Given the description of an element on the screen output the (x, y) to click on. 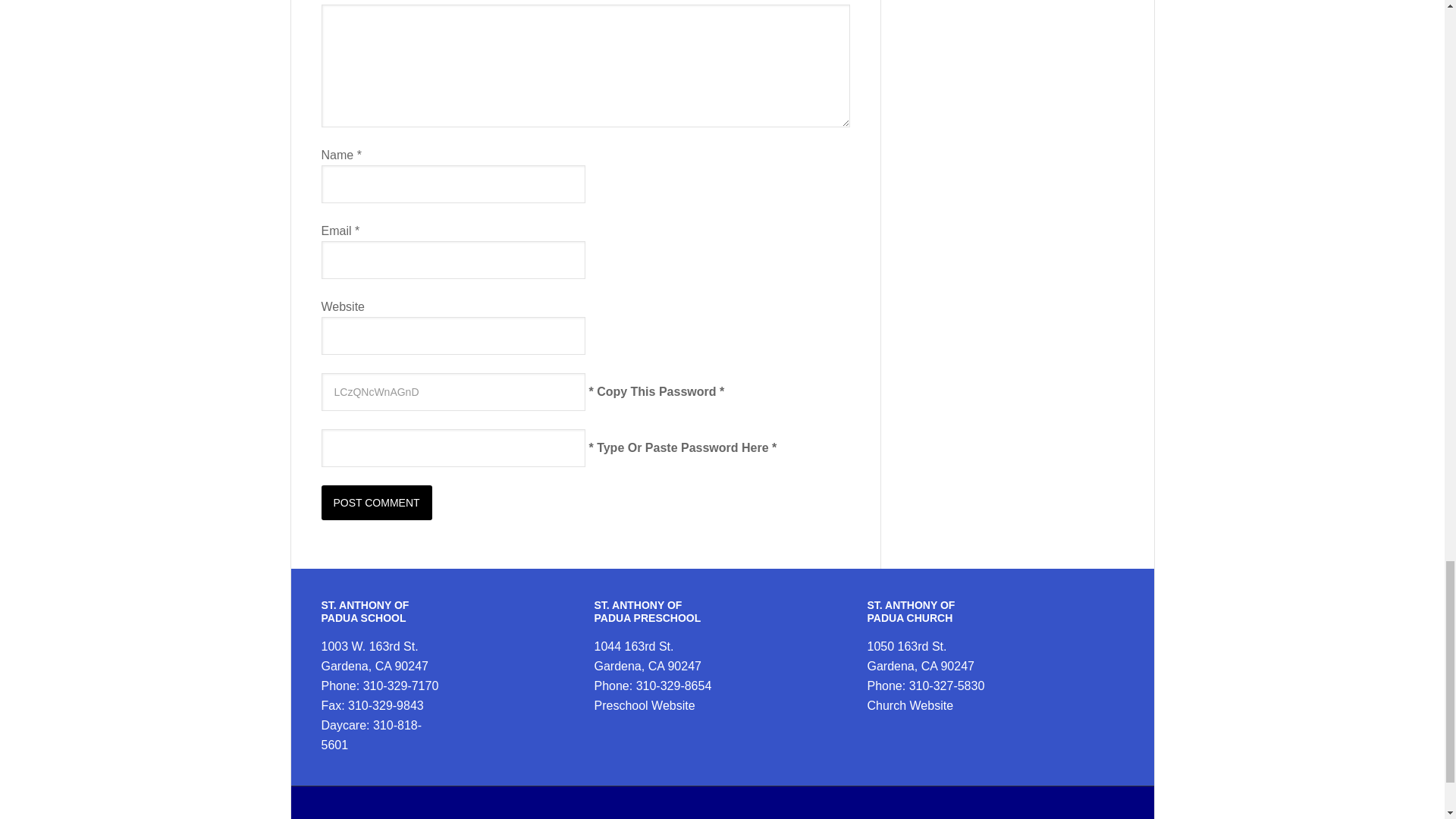
Post Comment (376, 502)
LCzQNcWnAGnD (453, 392)
